Given the description of an element on the screen output the (x, y) to click on. 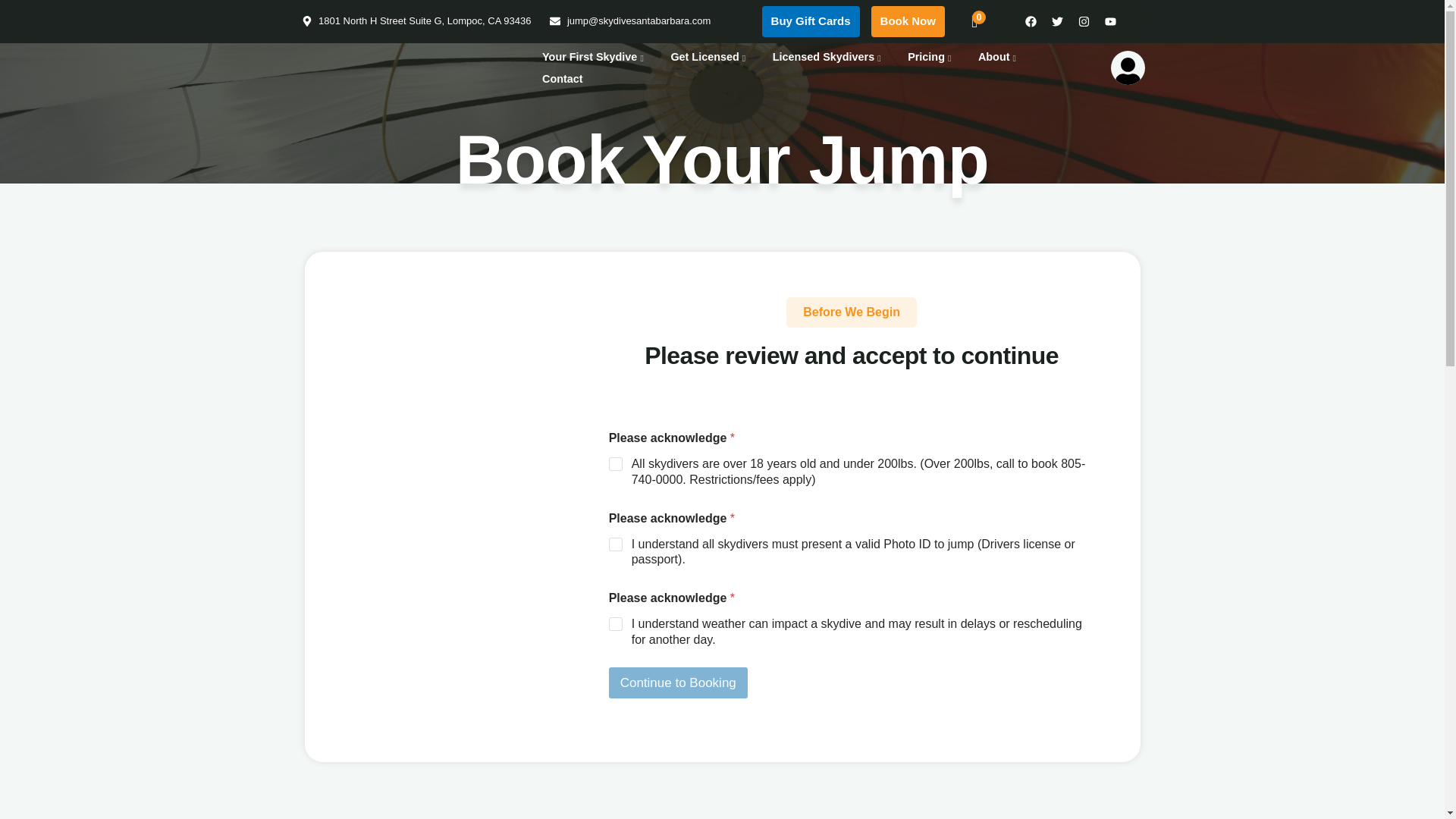
1801 North H Street Suite G, Lompoc, CA 93436 (416, 21)
About (999, 56)
Home (309, 64)
Get Licensed (709, 56)
Contact (562, 78)
Book Now (908, 21)
Continue to Booking (678, 682)
Your First Skydive (595, 56)
Licensed Skydivers (828, 56)
